Given the description of an element on the screen output the (x, y) to click on. 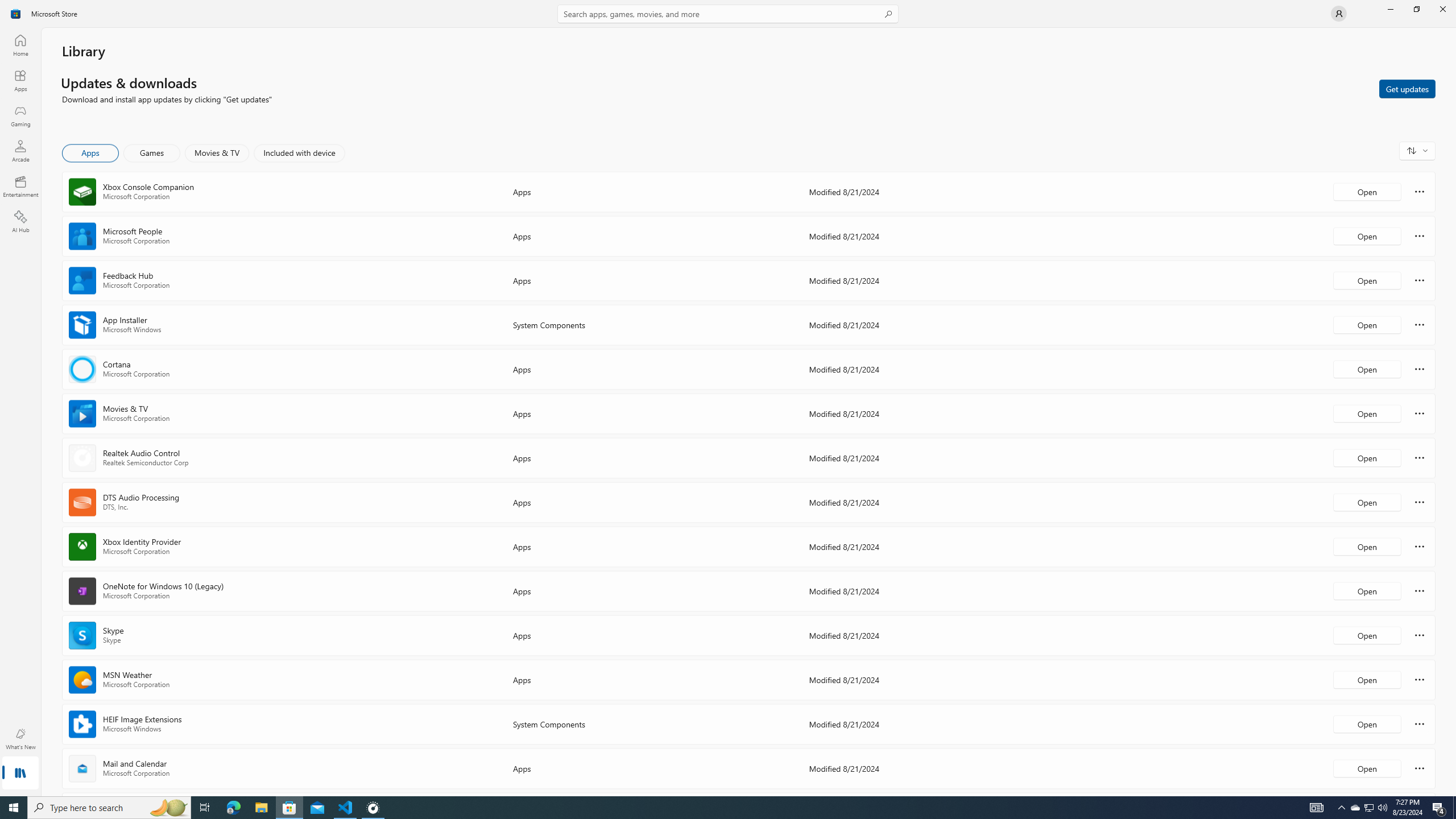
Games (151, 153)
Included with device (299, 153)
Get updates (1406, 88)
Search (727, 13)
Movies & TV (216, 153)
Sort and filter (1417, 149)
Open (1366, 768)
